Given the description of an element on the screen output the (x, y) to click on. 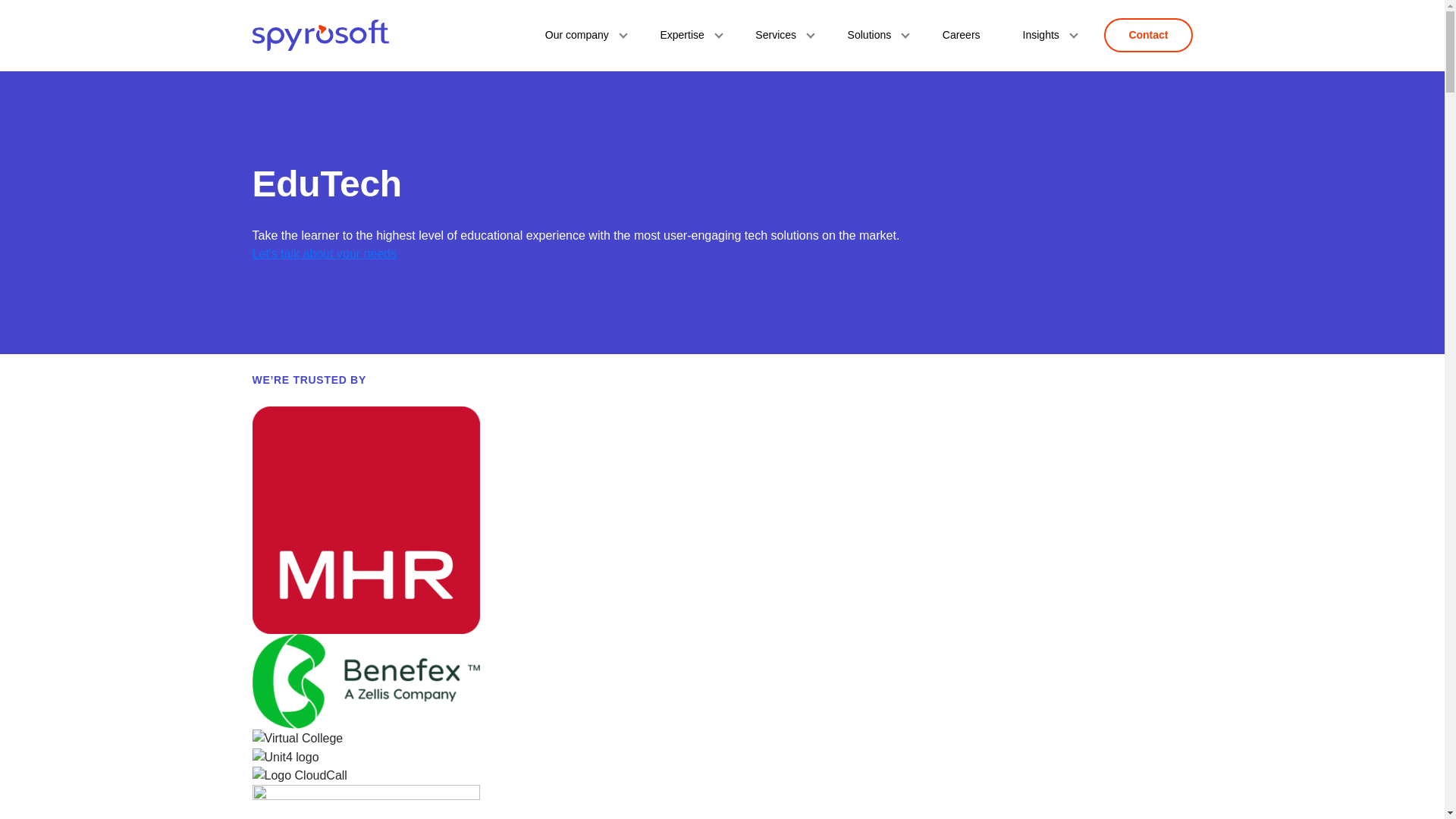
Services (779, 35)
Our company (581, 35)
Expertise (686, 35)
Solutions (873, 35)
